Given the description of an element on the screen output the (x, y) to click on. 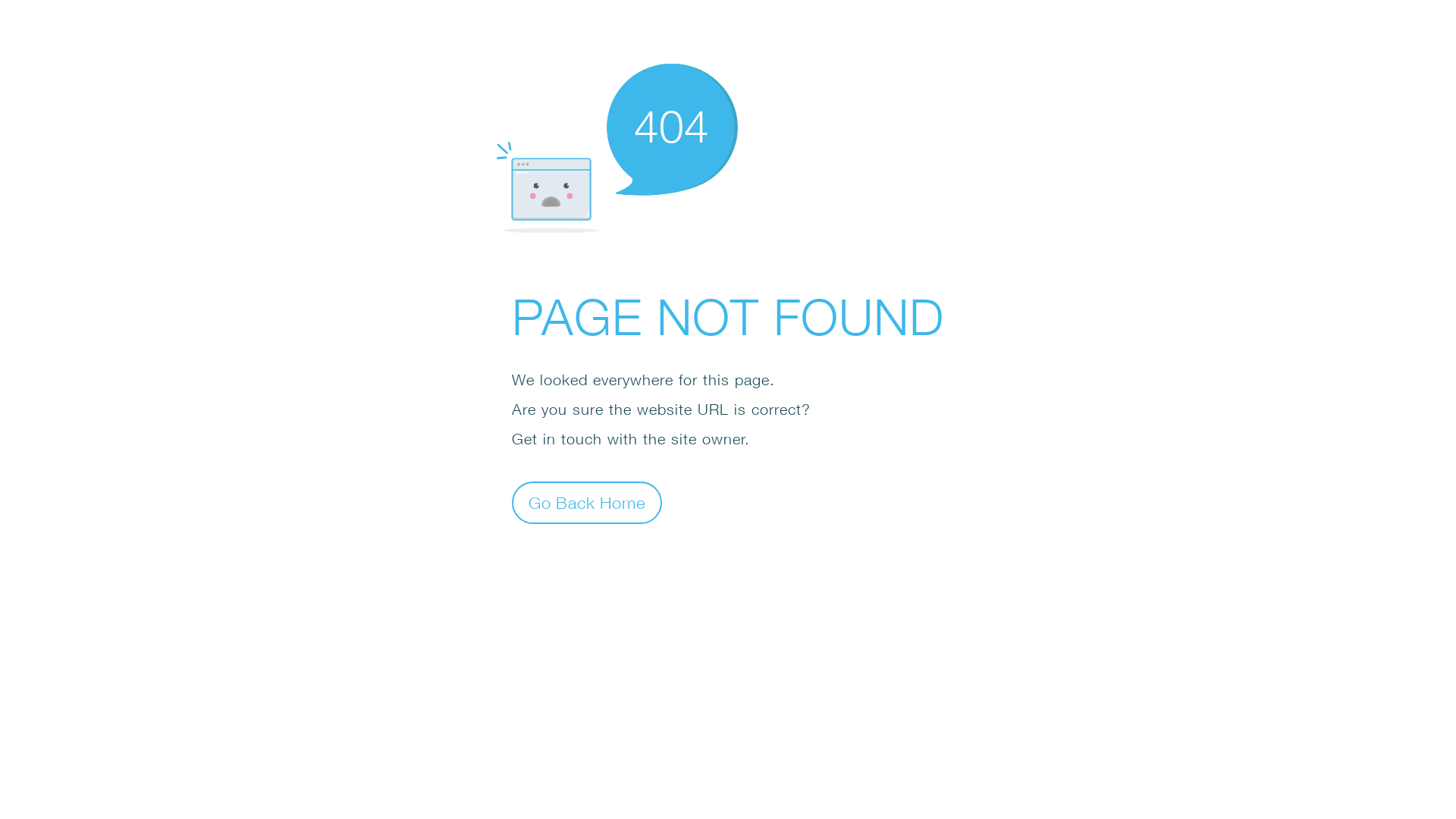
Go Back Home Element type: text (586, 502)
